Given the description of an element on the screen output the (x, y) to click on. 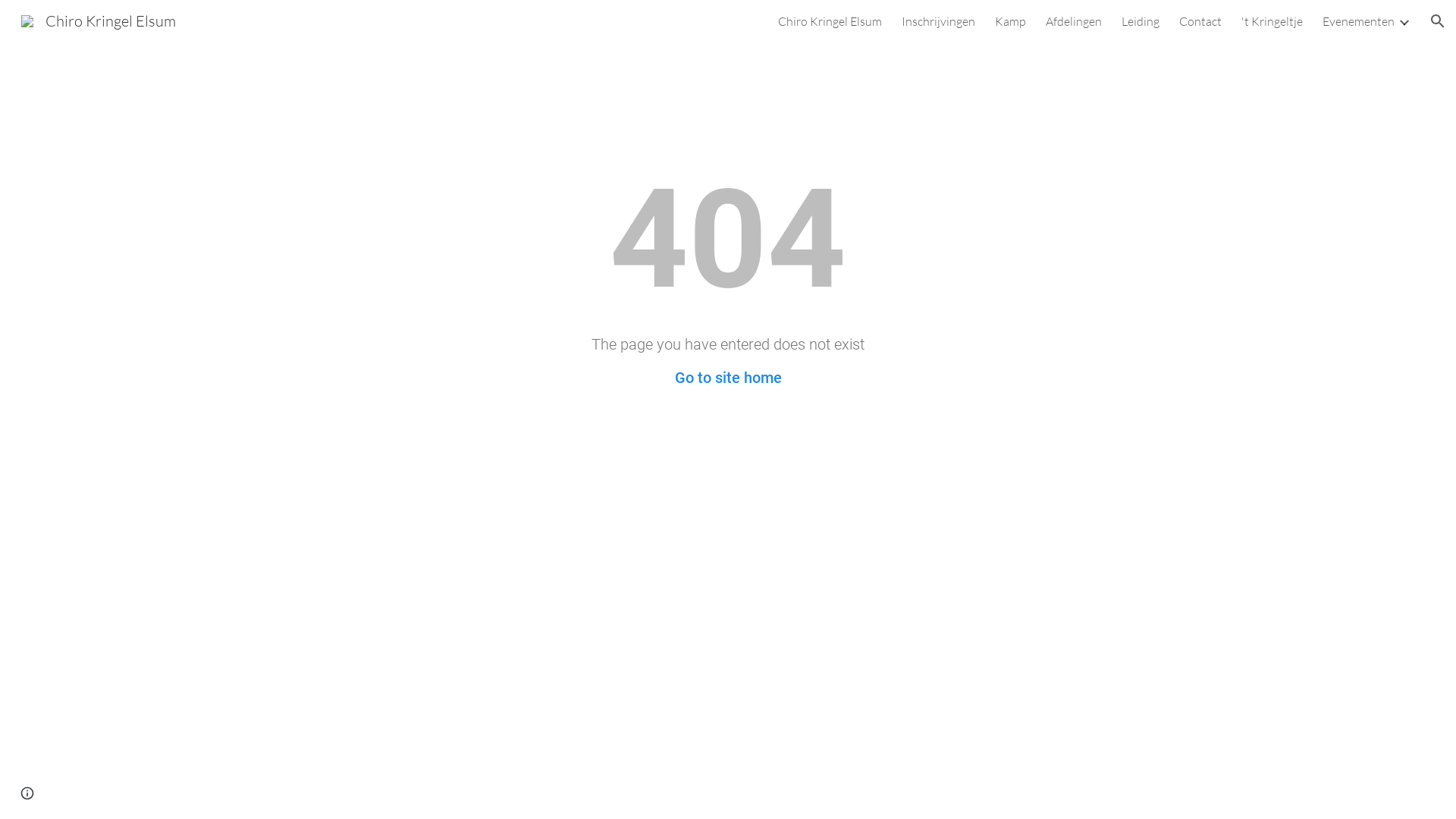
Expand/Collapse Element type: hover (1403, 20)
Afdelingen Element type: text (1073, 20)
Contact Element type: text (1200, 20)
Leiding Element type: text (1140, 20)
Go to site home Element type: text (727, 377)
Inschrijvingen Element type: text (938, 20)
Chiro Kringel Elsum Element type: text (829, 20)
Evenementen Element type: text (1358, 20)
't Kringeltje Element type: text (1271, 20)
Kamp Element type: text (1010, 20)
Chiro Kringel Elsum Element type: text (98, 18)
